Given the description of an element on the screen output the (x, y) to click on. 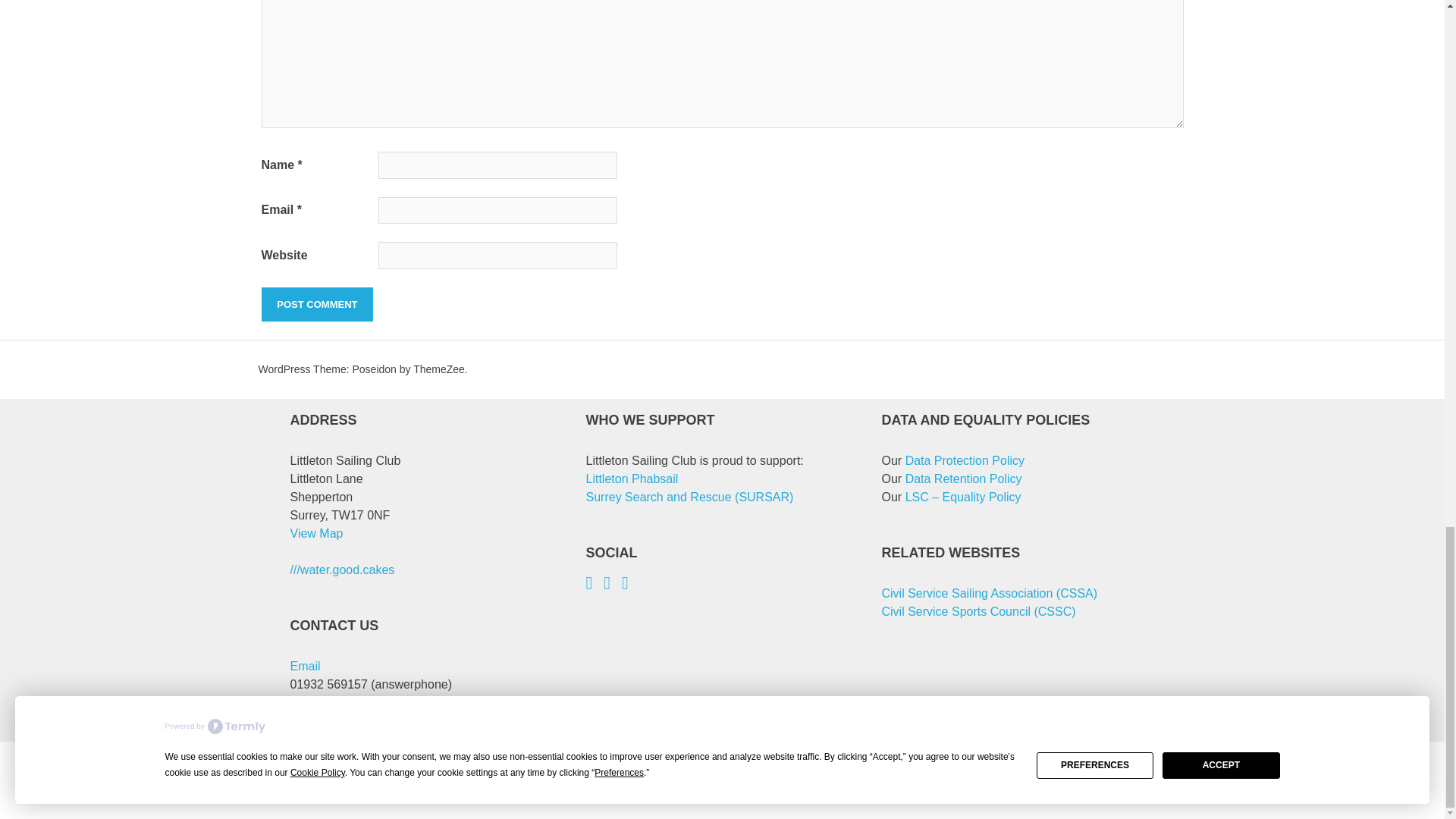
Post Comment (316, 304)
facebook (594, 584)
instagram (612, 584)
